Given the description of an element on the screen output the (x, y) to click on. 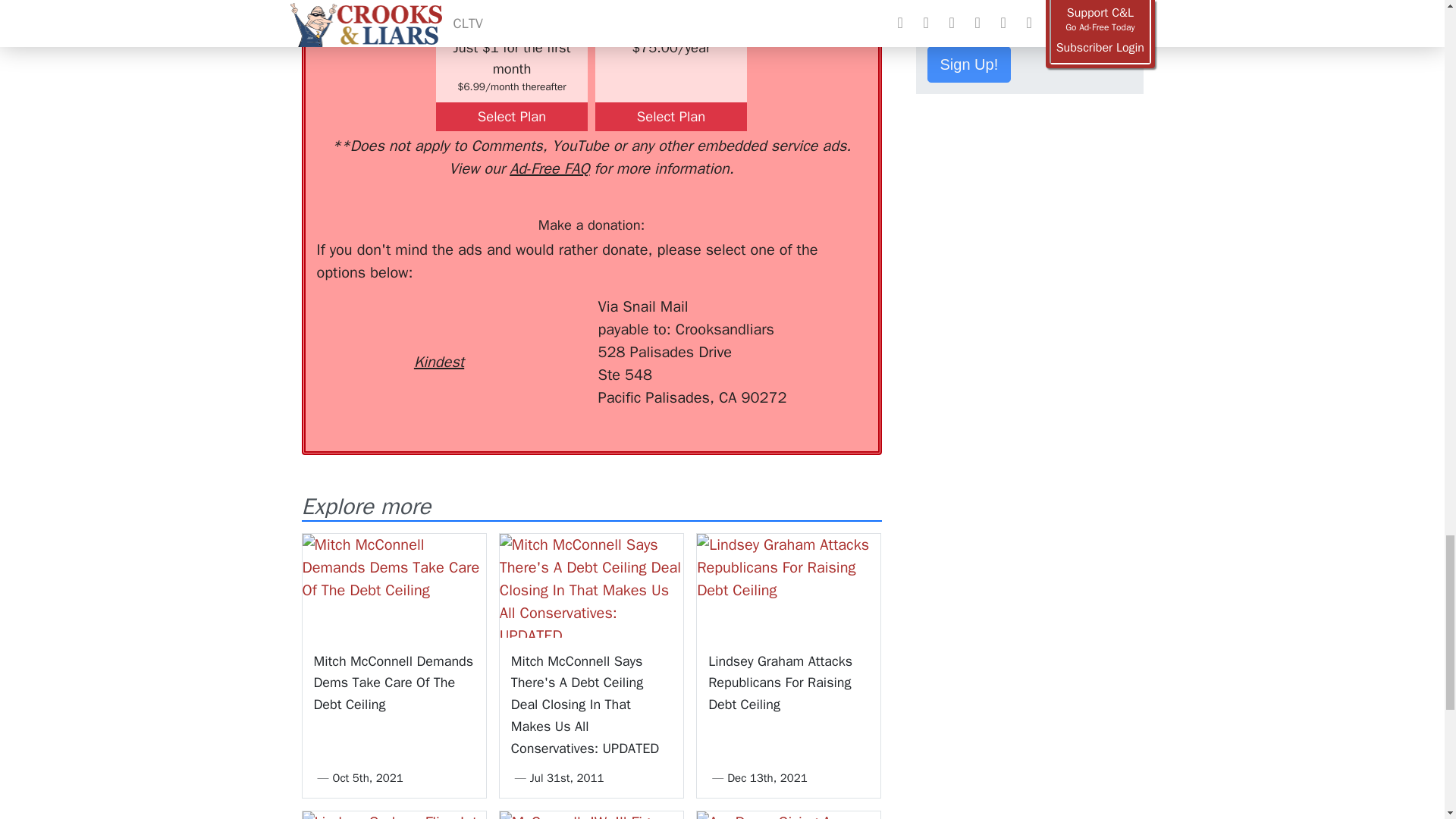
Donate via PayPal (540, 323)
Donate via PayPal (540, 323)
Mitch McConnell Demands Dems Take Care Of The Debt Ceiling (392, 585)
Donate via Kindest (438, 334)
Kindest (438, 334)
Ad-Free FAQ (549, 168)
Mitch McConnell Demands Dems Take Care Of The Debt Ceiling (394, 682)
